Given the description of an element on the screen output the (x, y) to click on. 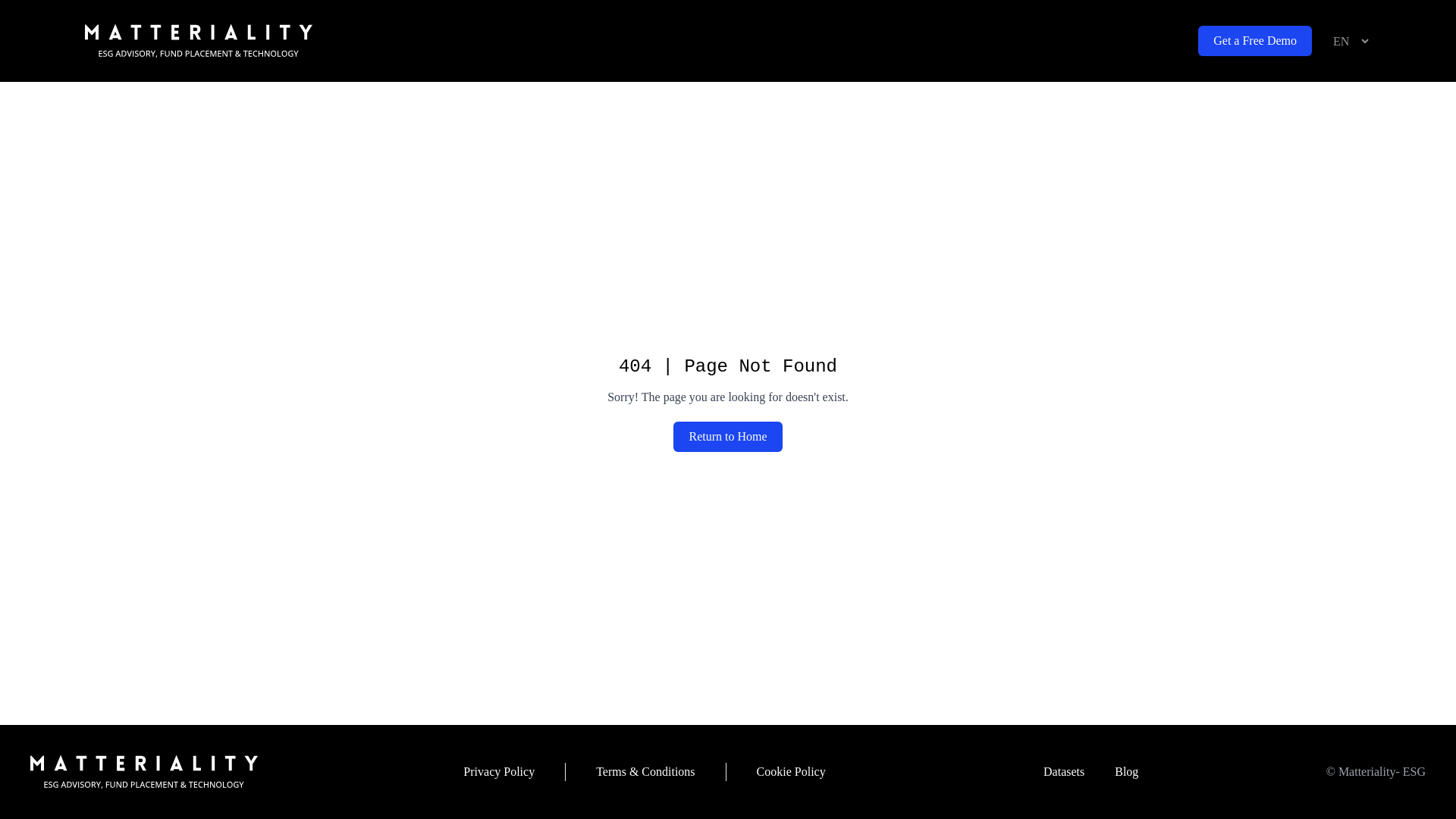
Datasets (1063, 771)
Return to Home (726, 436)
Get a Free Demo (1254, 40)
Blog (1126, 771)
Cookie Policy (791, 771)
Privacy Policy (498, 771)
